Given the description of an element on the screen output the (x, y) to click on. 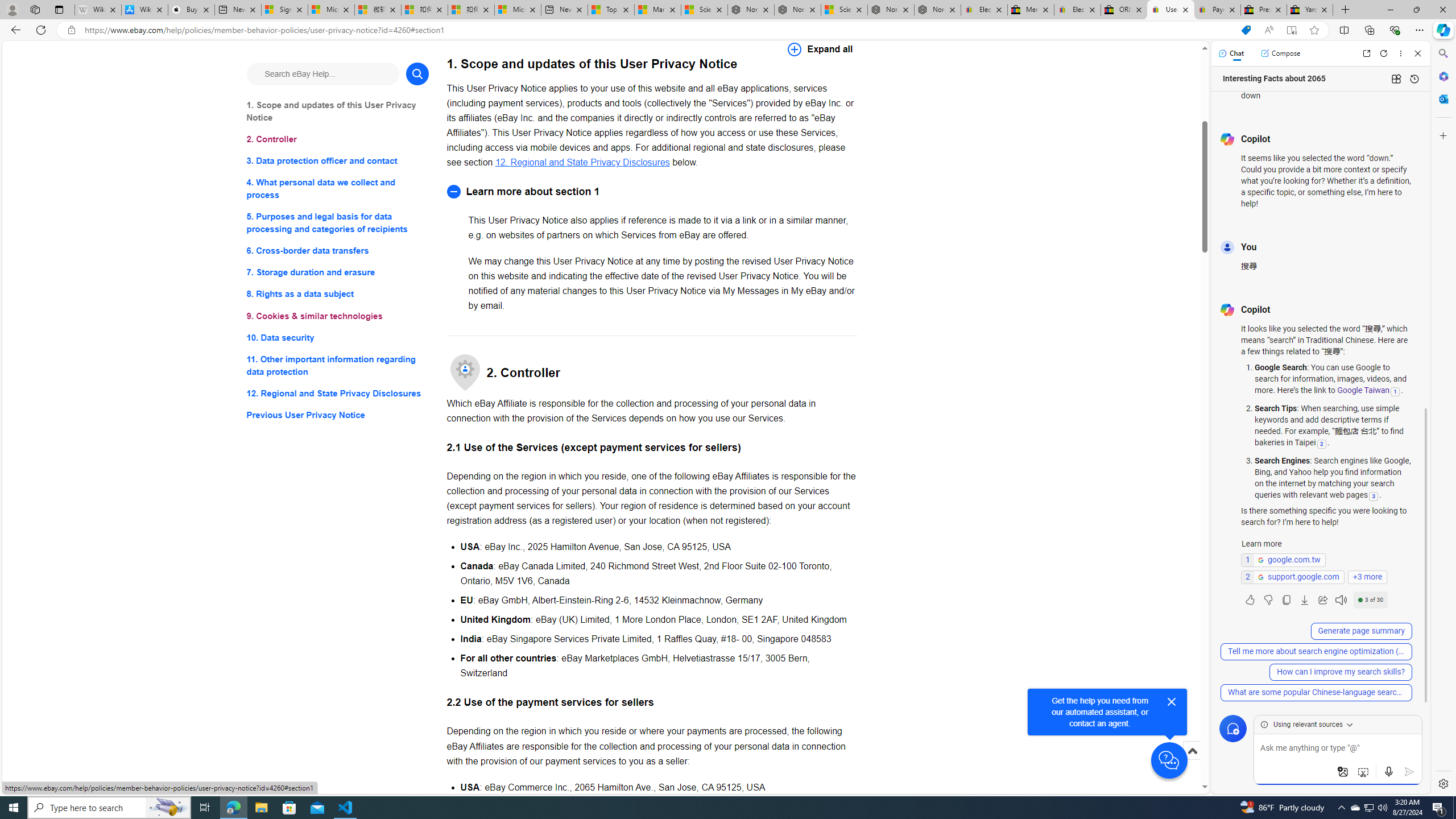
Scroll to top (1191, 750)
Buy iPad - Apple (191, 9)
Sign in to your Microsoft account (284, 9)
7. Storage duration and erasure (337, 272)
1. Scope and updates of this User Privacy Notice (337, 111)
4. What personal data we collect and process (337, 189)
